Given the description of an element on the screen output the (x, y) to click on. 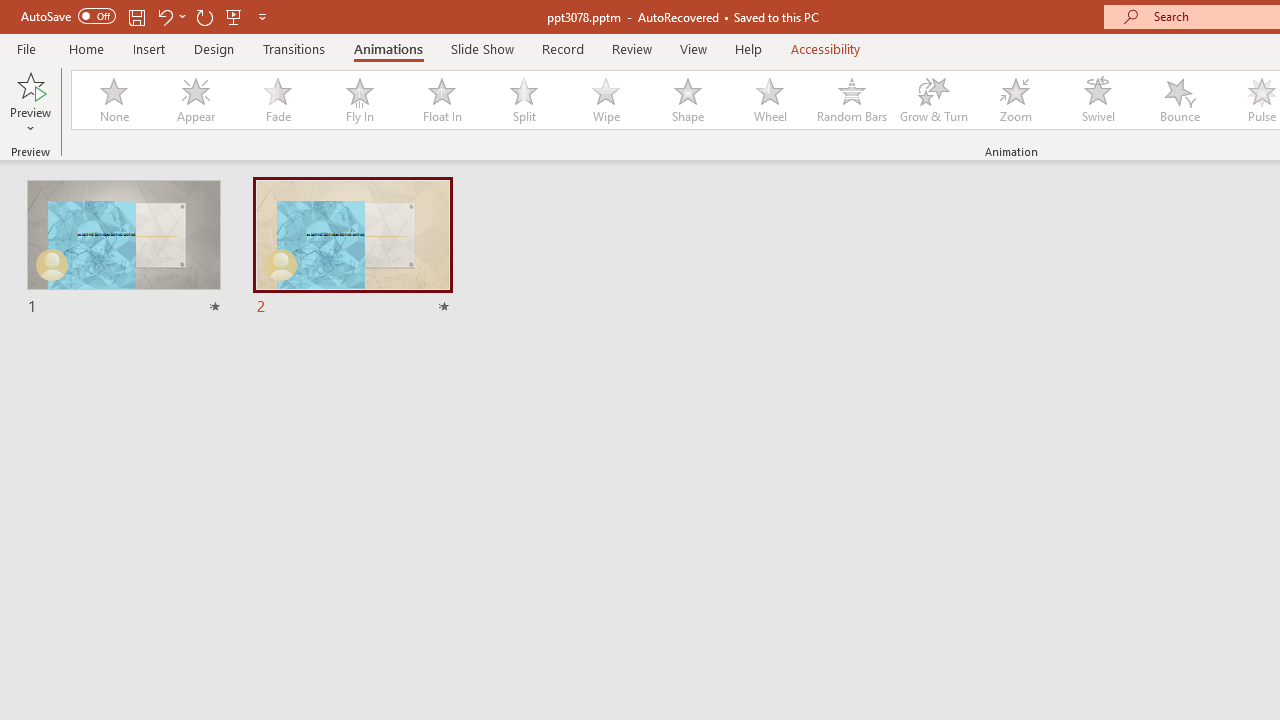
Float In (441, 100)
Appear (195, 100)
Fly In (359, 100)
None (113, 100)
Split (523, 100)
Fade (277, 100)
Wipe (605, 100)
Bounce (1180, 100)
